Given the description of an element on the screen output the (x, y) to click on. 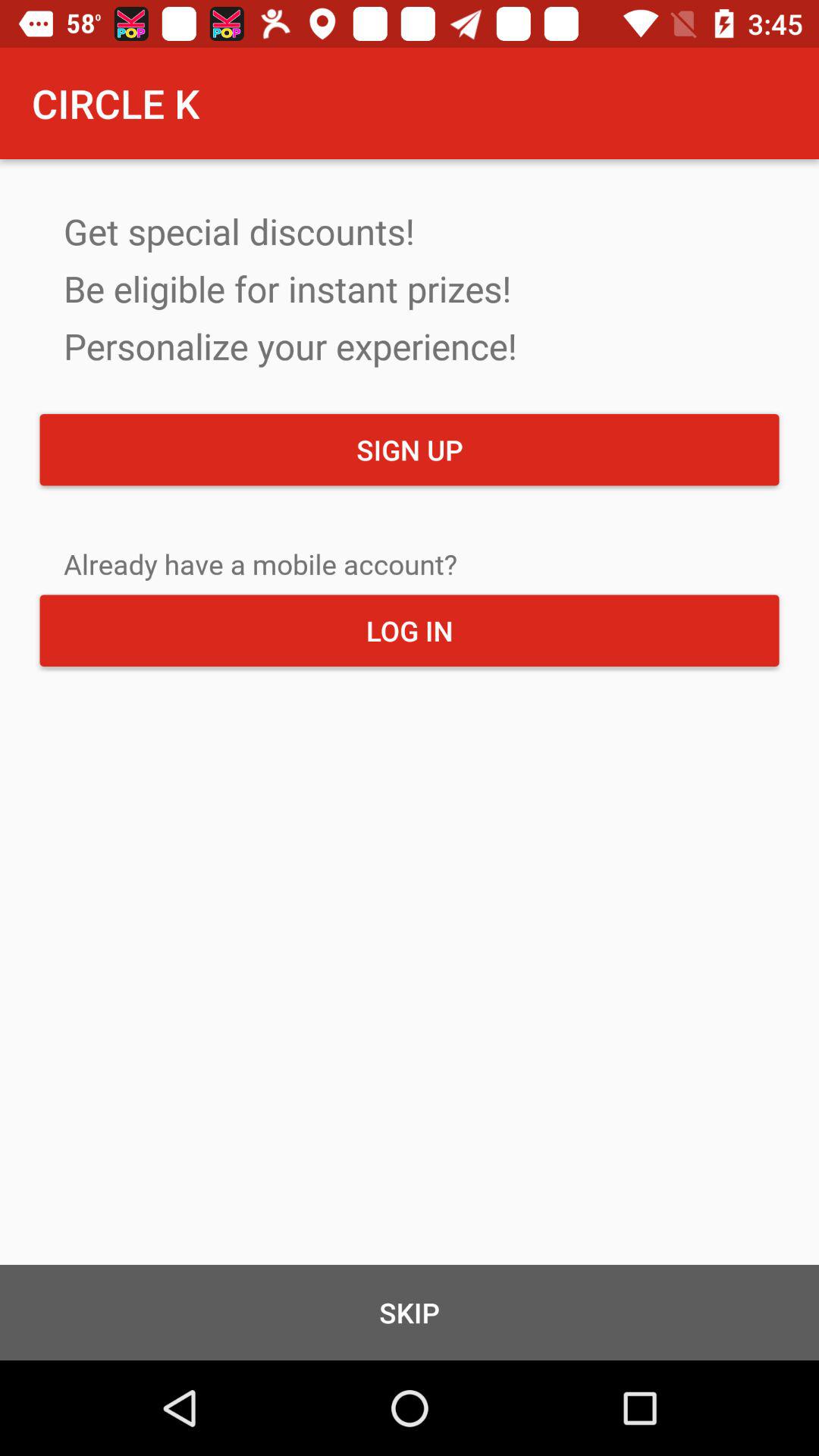
choose the icon above the skip (409, 630)
